Given the description of an element on the screen output the (x, y) to click on. 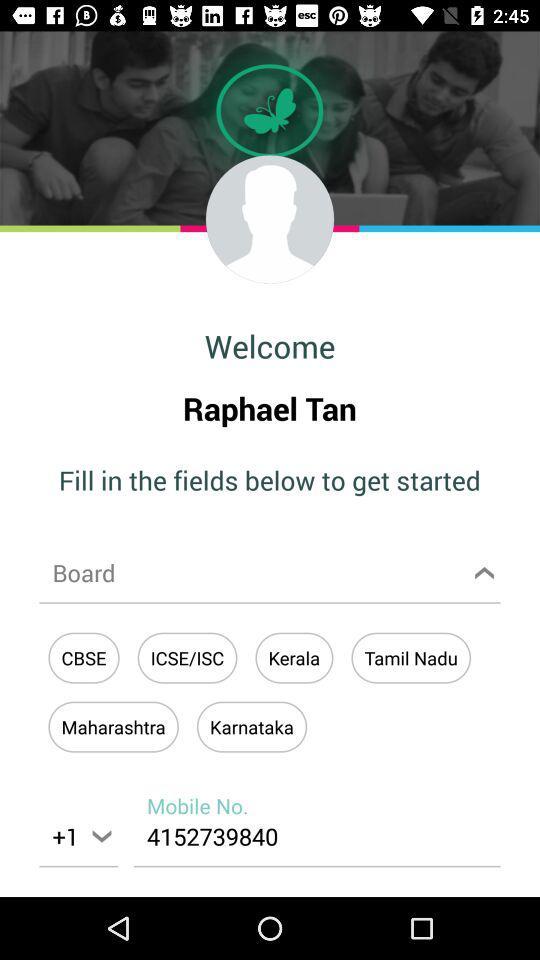
access drop down menu (269, 572)
